Given the description of an element on the screen output the (x, y) to click on. 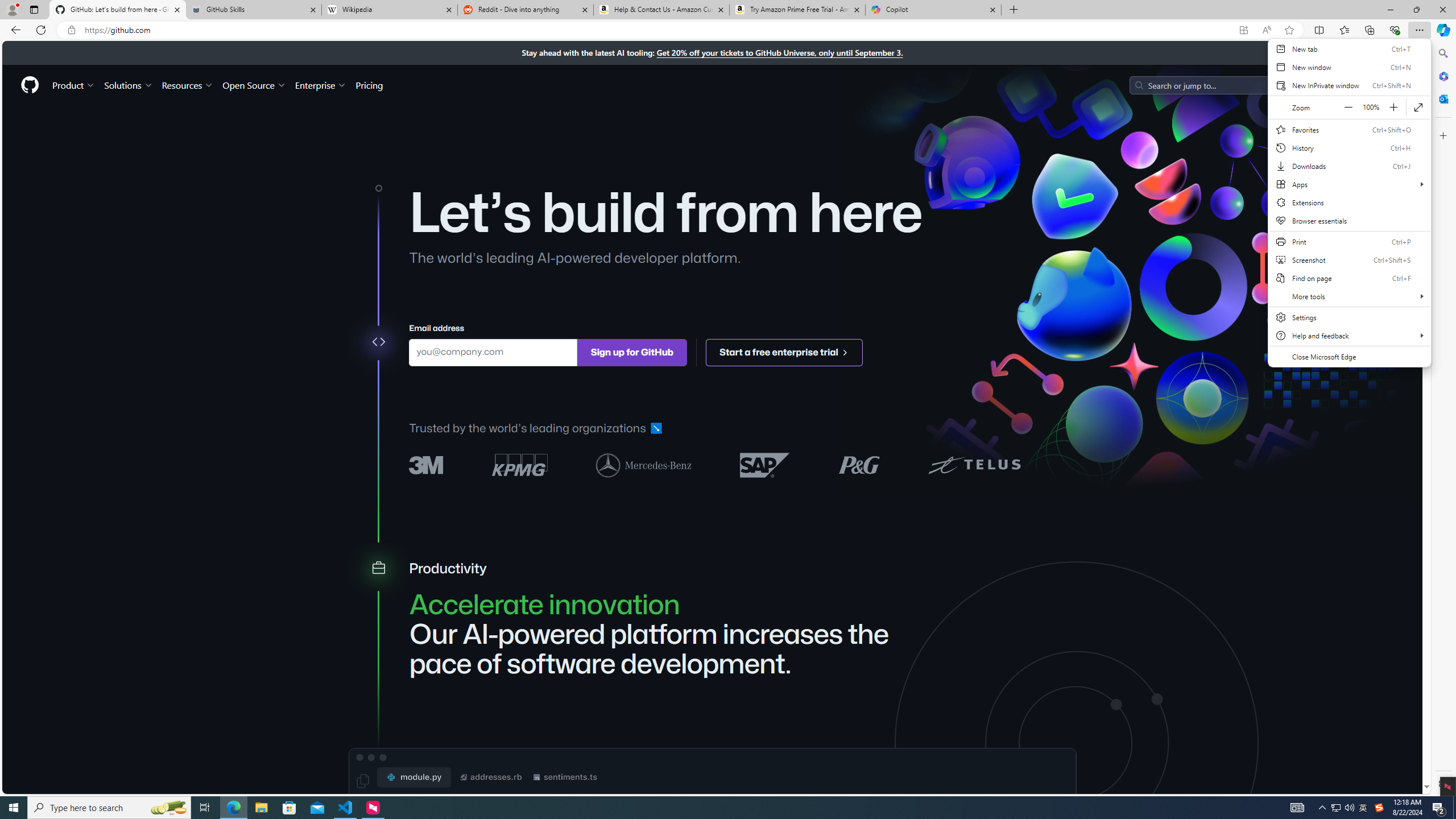
Pricing (368, 84)
Downloads (1349, 166)
Extensions (1349, 202)
Resources (187, 84)
Homepage (29, 85)
GitHub Skills (253, 9)
